Given the description of an element on the screen output the (x, y) to click on. 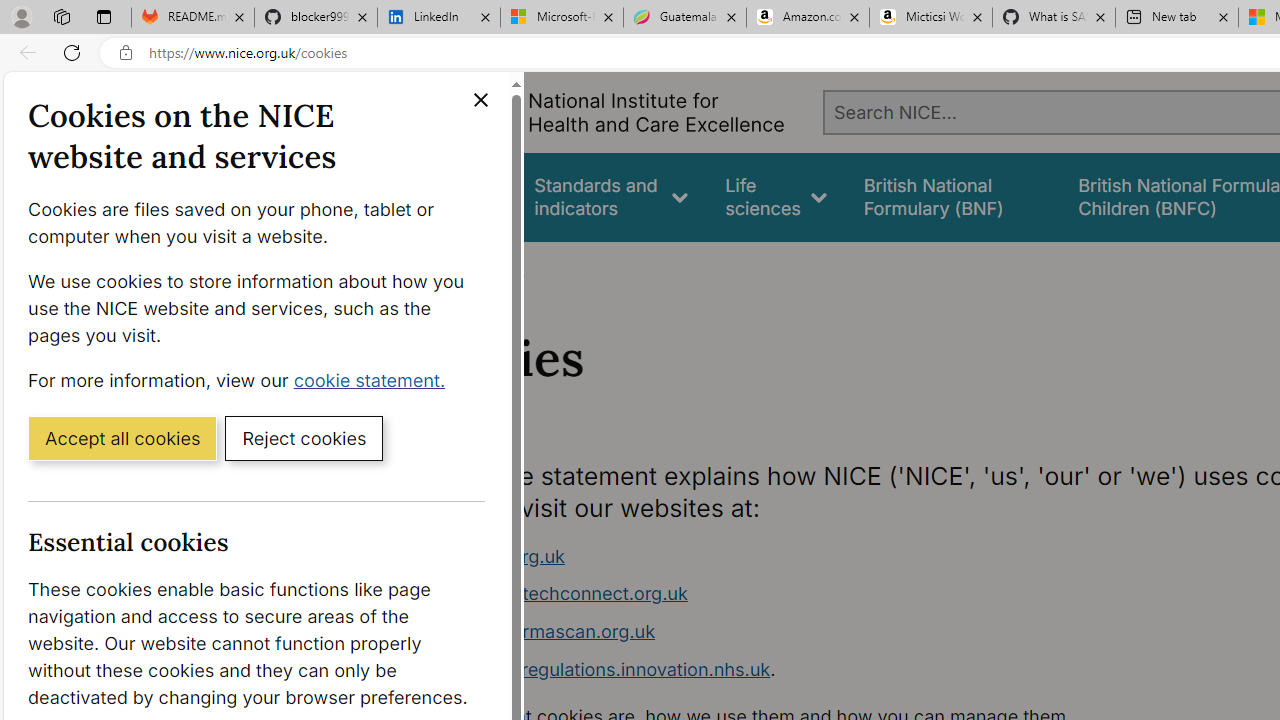
Guidance (458, 196)
LinkedIn (438, 17)
www.ukpharmascan.org.uk (796, 632)
www.healthtechconnect.org.uk (796, 594)
Life sciences (776, 196)
About (498, 268)
Reject cookies (304, 437)
false (952, 196)
About (498, 268)
www.nice.org.uk (796, 556)
